Given the description of an element on the screen output the (x, y) to click on. 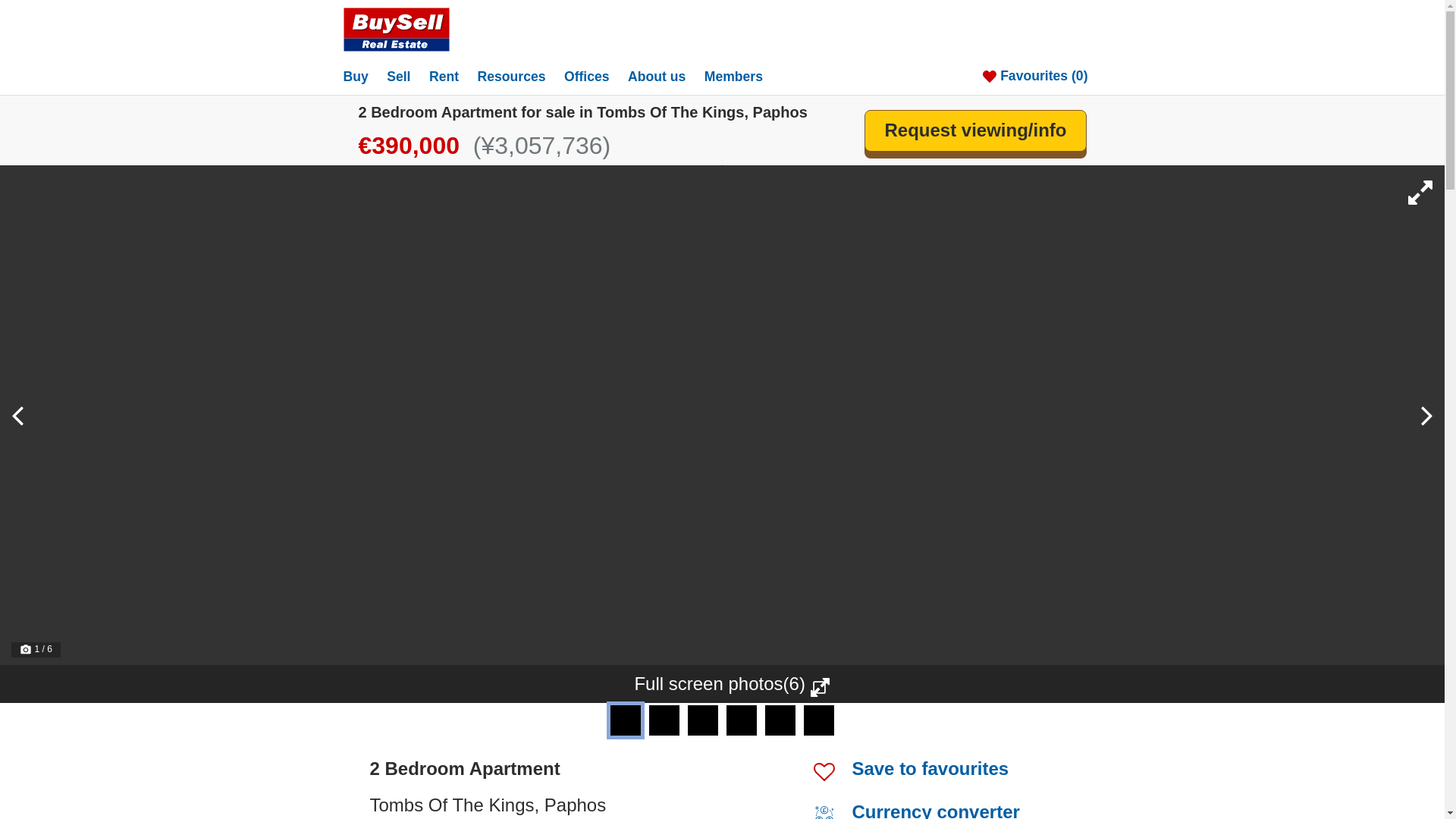
Sell (406, 76)
Rent (451, 76)
Members (740, 76)
Buy (362, 76)
Sign in to your dashboard (740, 76)
Currency converter (935, 810)
Find Real Estate Agents in Cyprus (594, 76)
View your favourite properties for sale in Cyprus (1042, 76)
Save to favourites (930, 768)
